Given the description of an element on the screen output the (x, y) to click on. 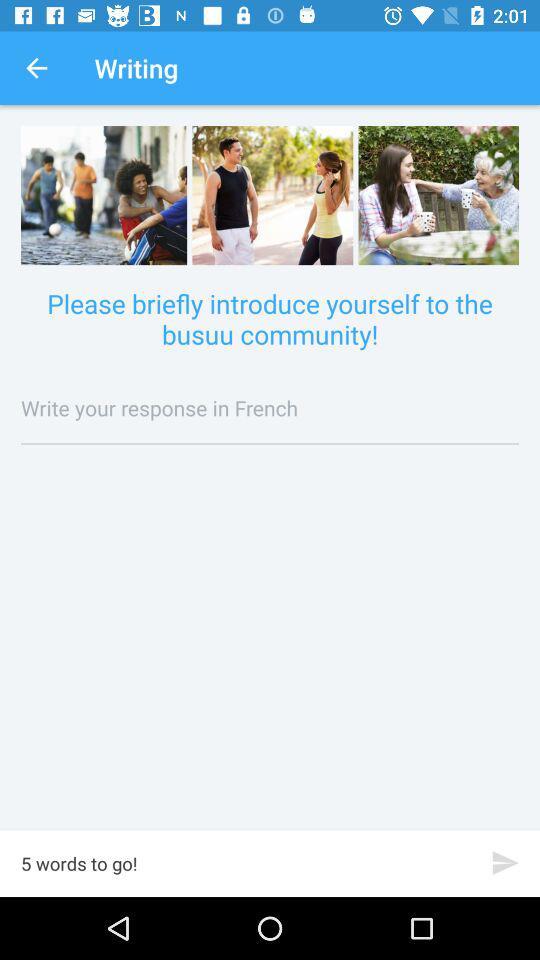
turn on item next to the 5 words to (505, 862)
